Given the description of an element on the screen output the (x, y) to click on. 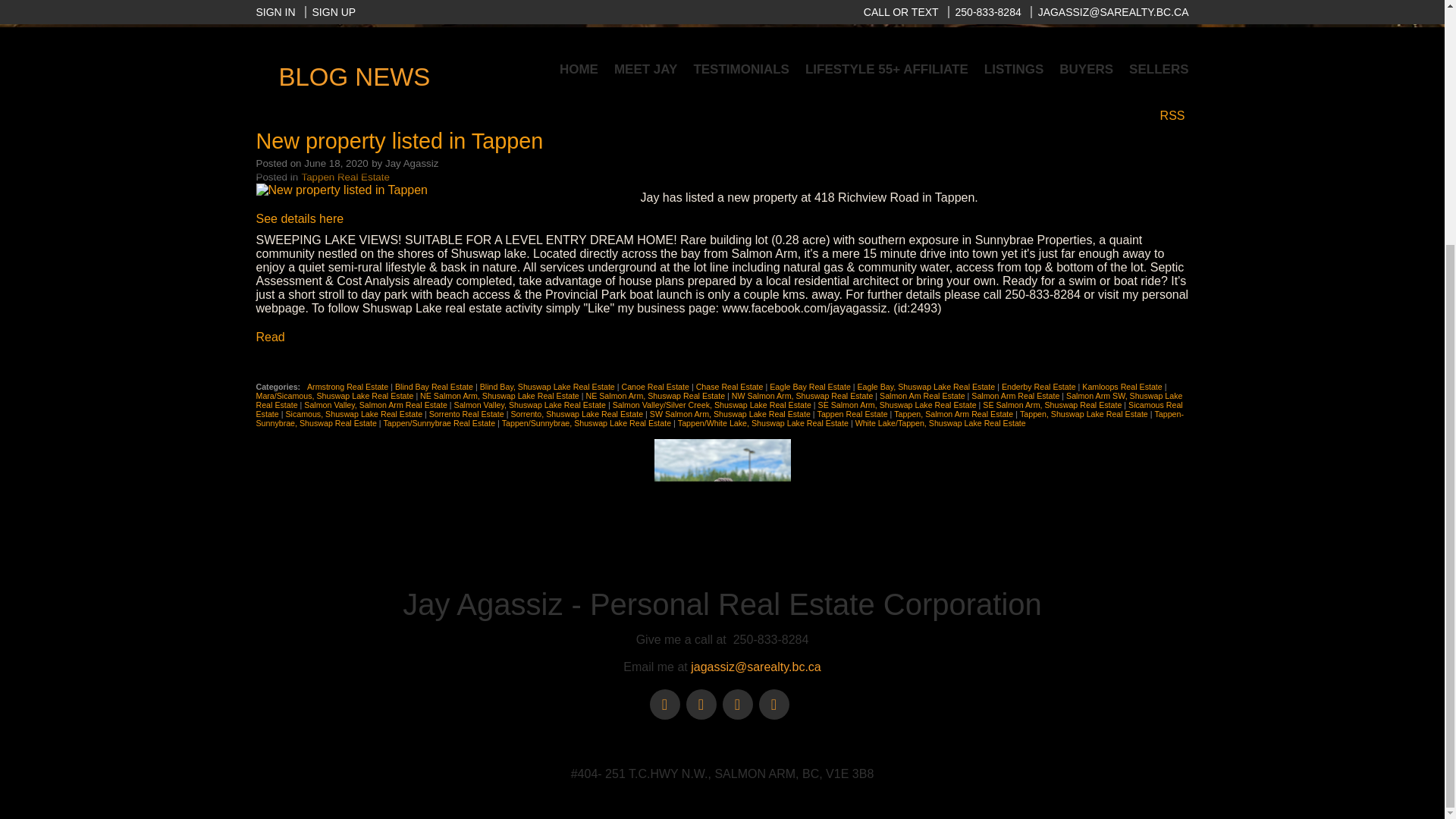
Eagle Bay, Shuswap Lake Real Estate (927, 386)
NW Salmon Arm, Shuswap Real Estate (804, 395)
Armstrong Real Estate (348, 386)
Salmon Valley, Shuswap Lake Real Estate (531, 404)
Read full post (442, 190)
Canoe Real Estate (655, 386)
NE Salmon Arm, Shuswap Lake Real Estate (500, 395)
Salmon Arm SW, Shuswap Lake Real Estate (719, 400)
See details here (299, 218)
Salmon Valley, Salmon Arm Real Estate (376, 404)
Salmon Am Real Estate (923, 395)
New property listed in Tappen (399, 141)
Eagle Bay Real Estate (811, 386)
Chase Real Estate (730, 386)
Enderby Real Estate (1039, 386)
